Given the description of an element on the screen output the (x, y) to click on. 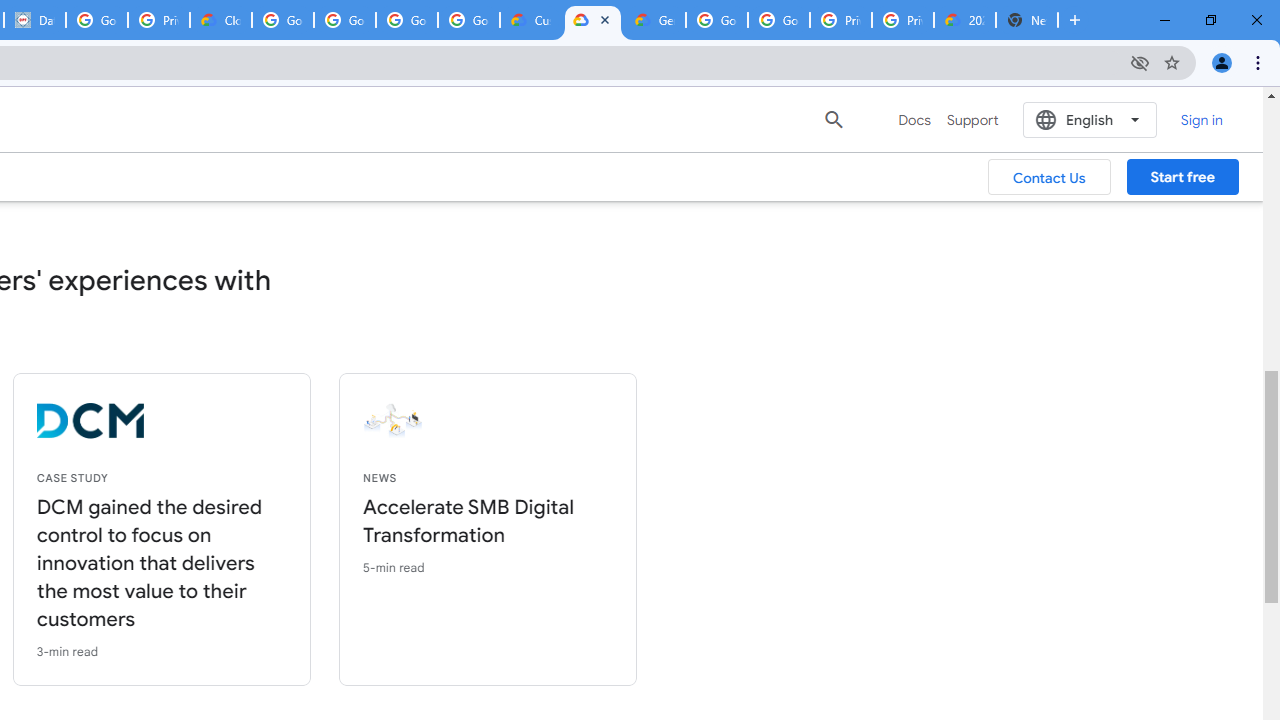
Customer Care | Google Cloud (530, 20)
